Given the description of an element on the screen output the (x, y) to click on. 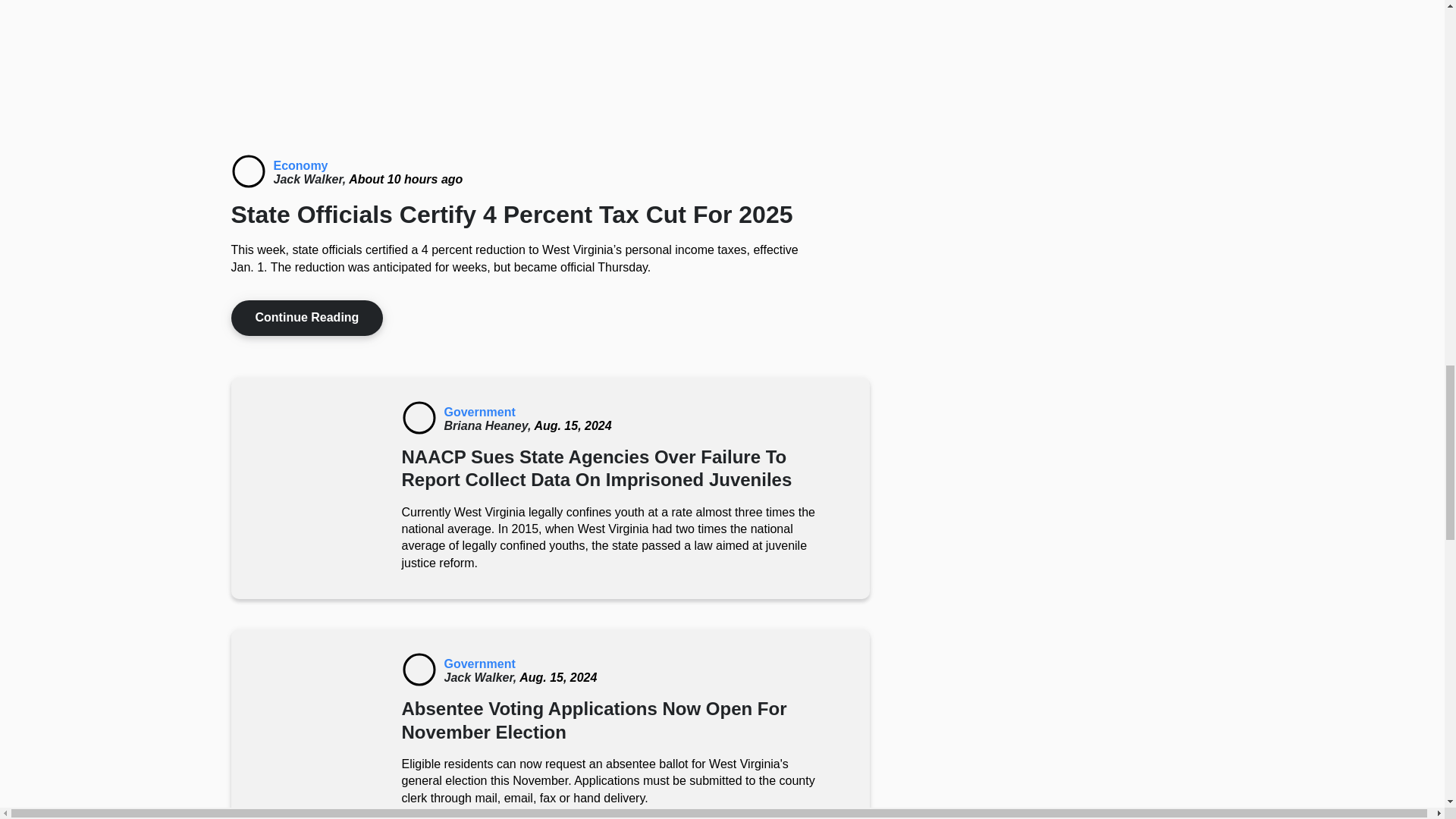
Jack Walker (311, 178)
State Officials Certify 4 Percent Tax Cut For 2025 (247, 171)
Briana Heaney (489, 425)
